Given the description of an element on the screen output the (x, y) to click on. 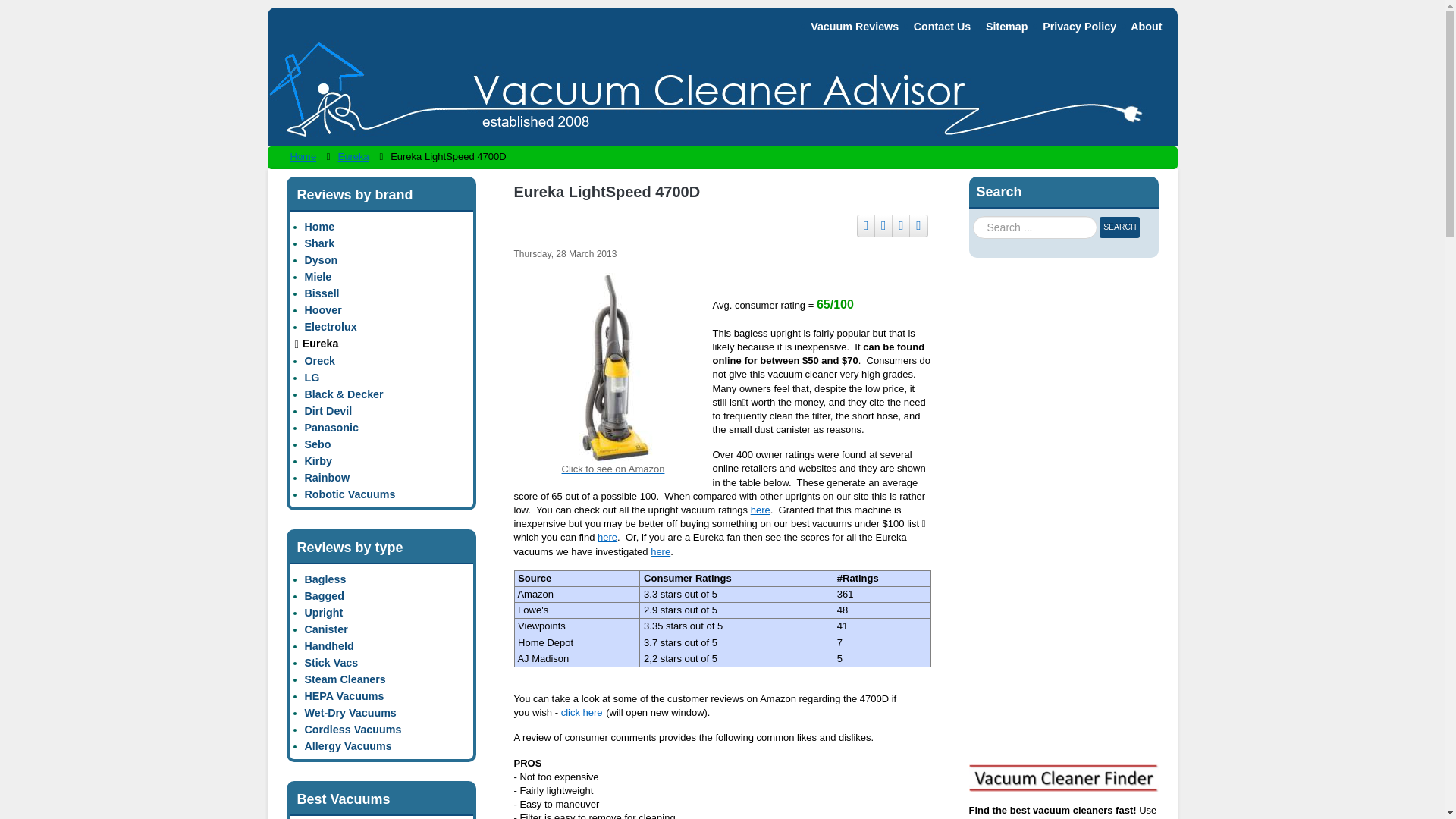
About (1140, 26)
here (606, 536)
Home (306, 156)
Privacy Policy (1073, 26)
here (760, 509)
Eureka LightSpeed 4700D (612, 367)
click here (581, 712)
here (659, 551)
Vacuum Reviews (847, 26)
Eureka (357, 156)
Click to see on Amazon (613, 418)
Contact Us (936, 26)
Sitemap (1000, 26)
